Given the description of an element on the screen output the (x, y) to click on. 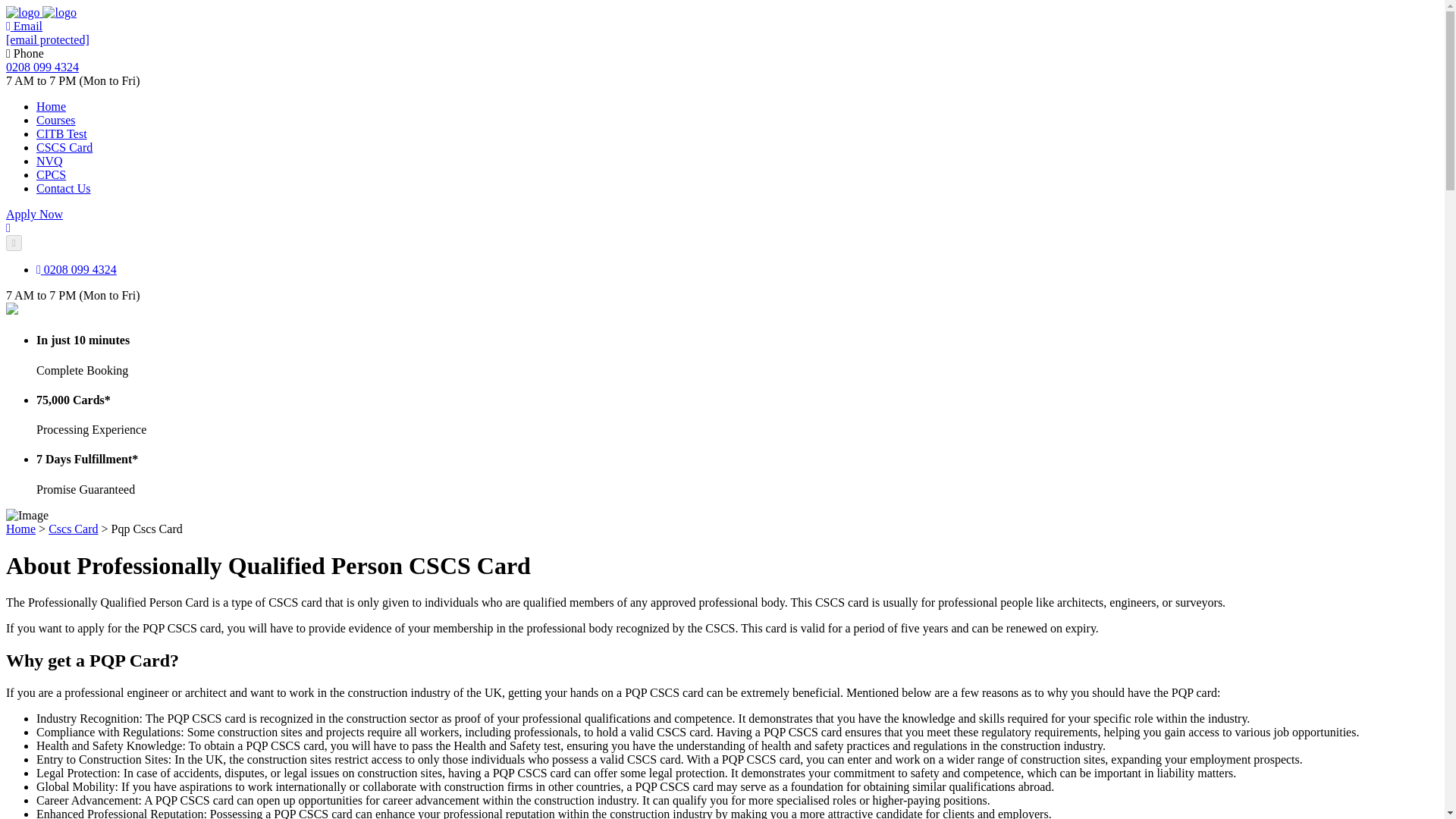
Cscs Card (72, 528)
Home (19, 528)
CPCS (50, 174)
CITB Test (61, 133)
0208 099 4324 (41, 66)
Apply Now (33, 214)
Home (50, 106)
0208 099 4324 (76, 269)
CSCS Card (64, 146)
Courses (55, 119)
NVQ (49, 160)
Contact Us (63, 187)
